Given the description of an element on the screen output the (x, y) to click on. 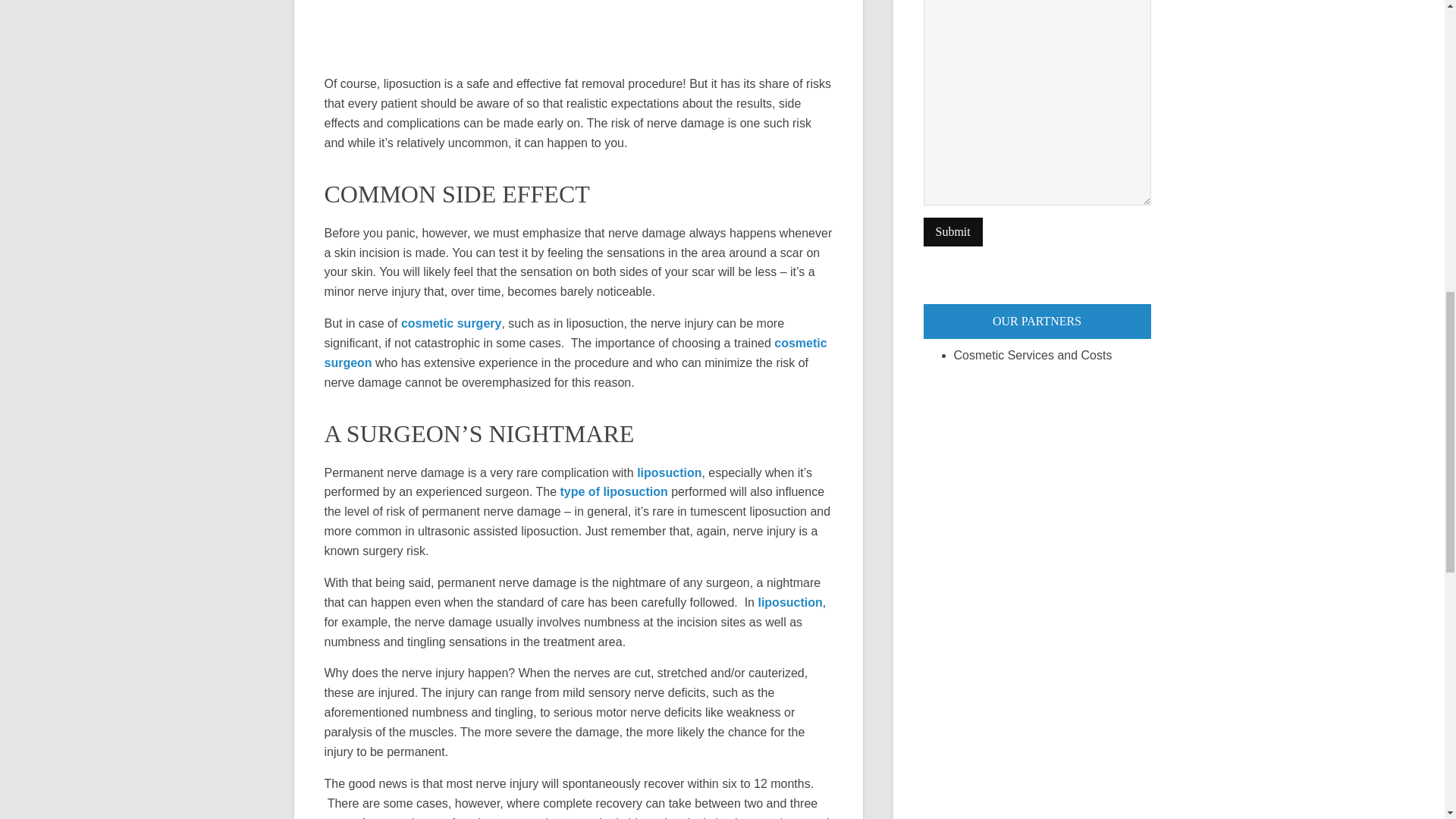
type of liposuction (614, 491)
cosmetic surgery (451, 323)
Submit (952, 231)
liposuction (669, 472)
cosmetic surgeon (575, 352)
Advertisement (578, 31)
liposuction (789, 602)
